Given the description of an element on the screen output the (x, y) to click on. 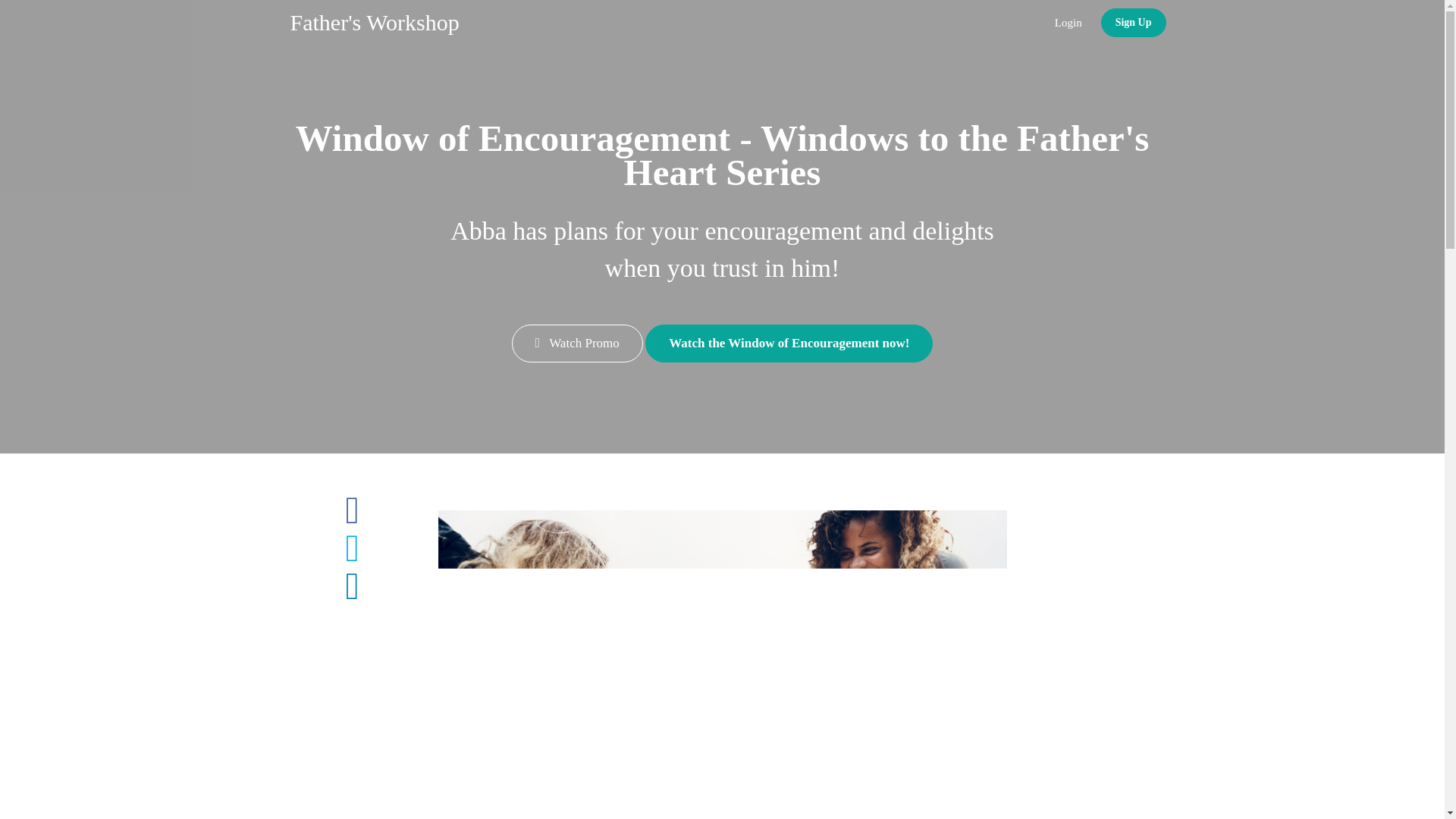
Sign Up (1133, 22)
   Watch Promo (577, 343)
Watch the Window of Encouragement now! (789, 343)
Father's Workshop (374, 22)
Login (1068, 22)
